Given the description of an element on the screen output the (x, y) to click on. 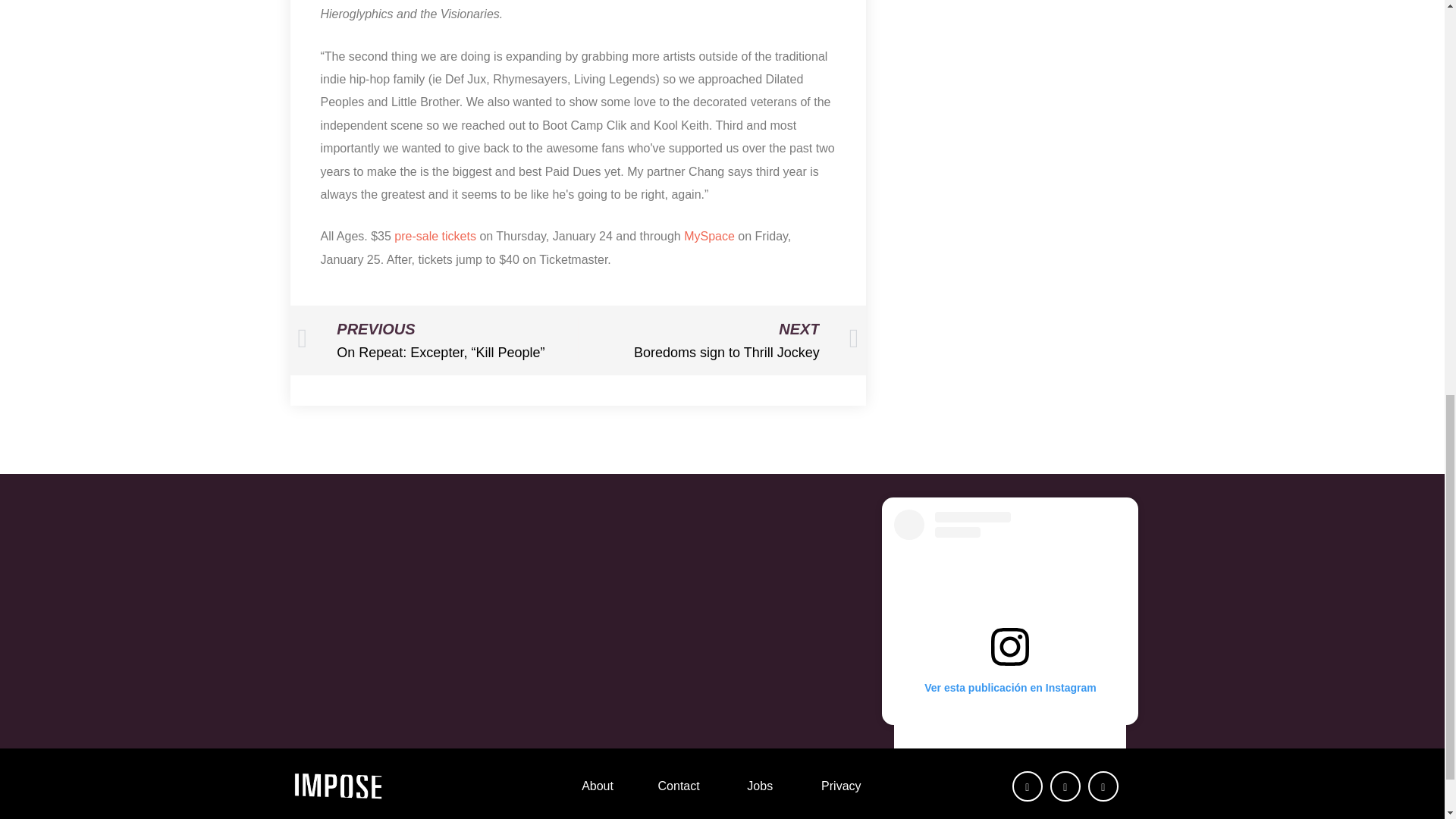
pre-sale tickets (435, 236)
Twitter Timeline (718, 339)
MySpace (721, 609)
